Given the description of an element on the screen output the (x, y) to click on. 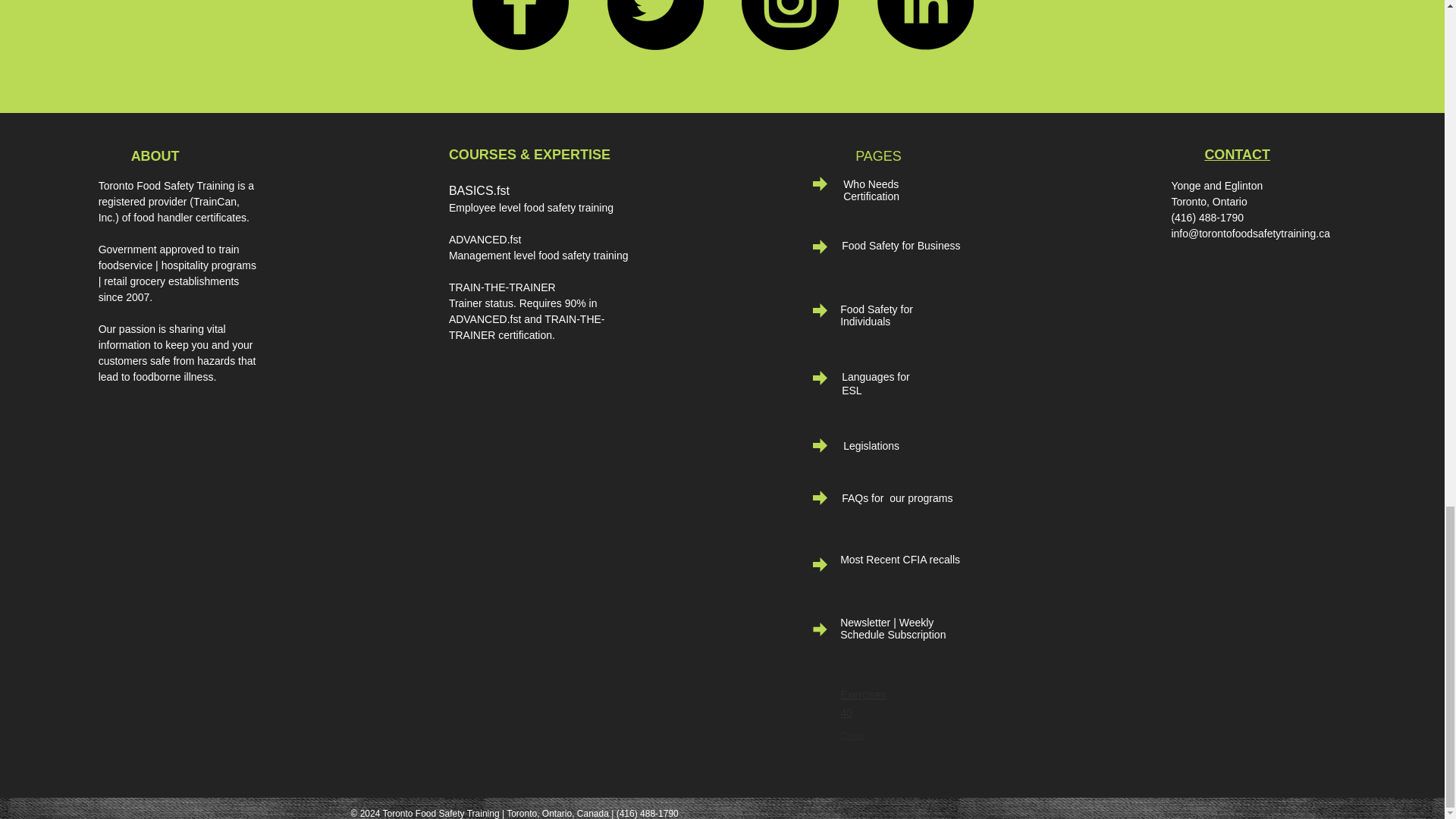
Food Safety for Business (900, 245)
Food Safety for Individuals (876, 315)
FAQs for  our programs (896, 498)
40 (845, 712)
Languages for ESL (875, 383)
Who Needs Certification (871, 190)
Clean (851, 735)
CONTACT (1236, 154)
Exercises (863, 694)
Most Recent CFIA recalls (899, 559)
Legislations (871, 445)
